Given the description of an element on the screen output the (x, y) to click on. 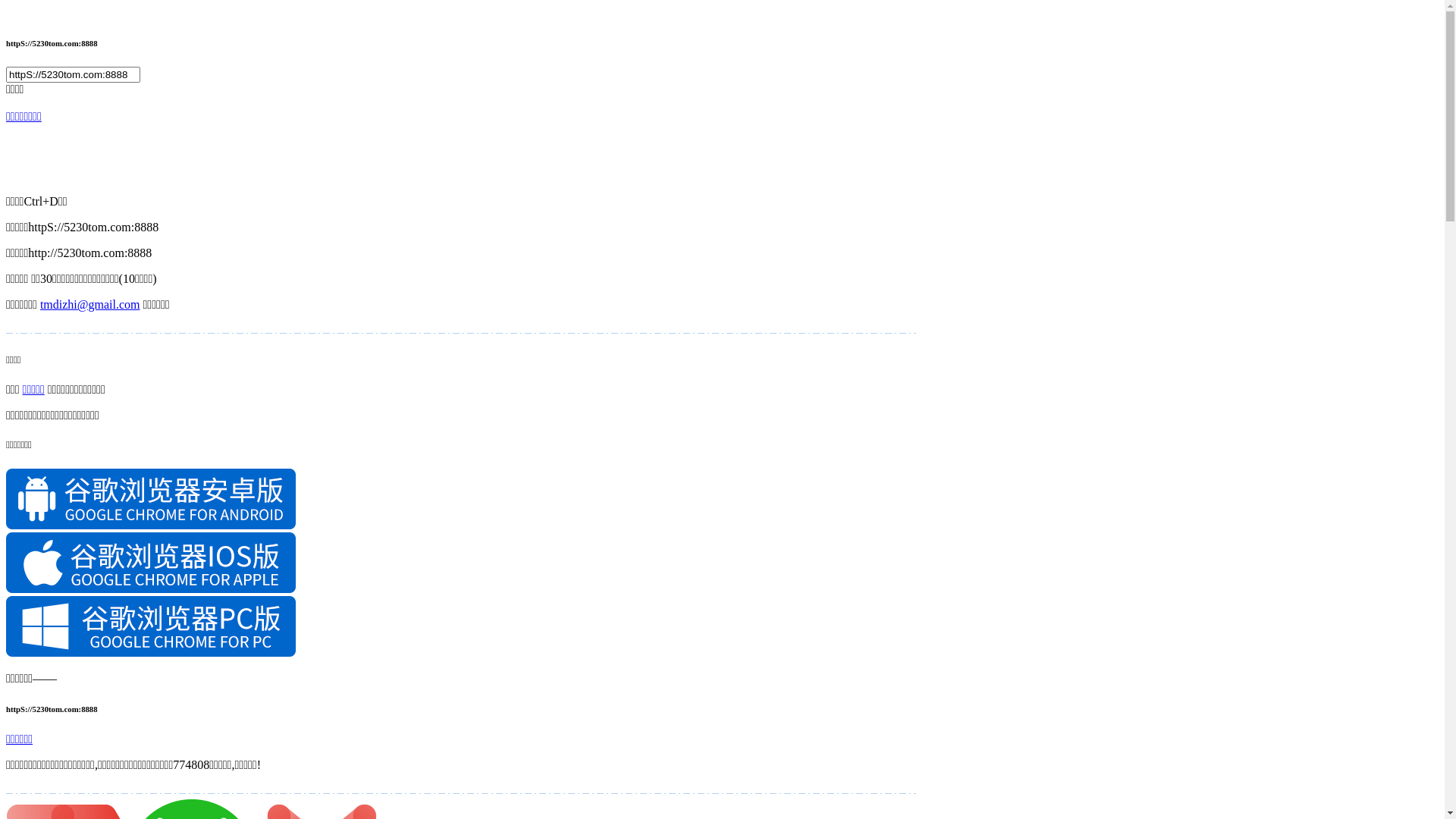
tmdizhi@gmail.com Element type: text (90, 304)
